Given the description of an element on the screen output the (x, y) to click on. 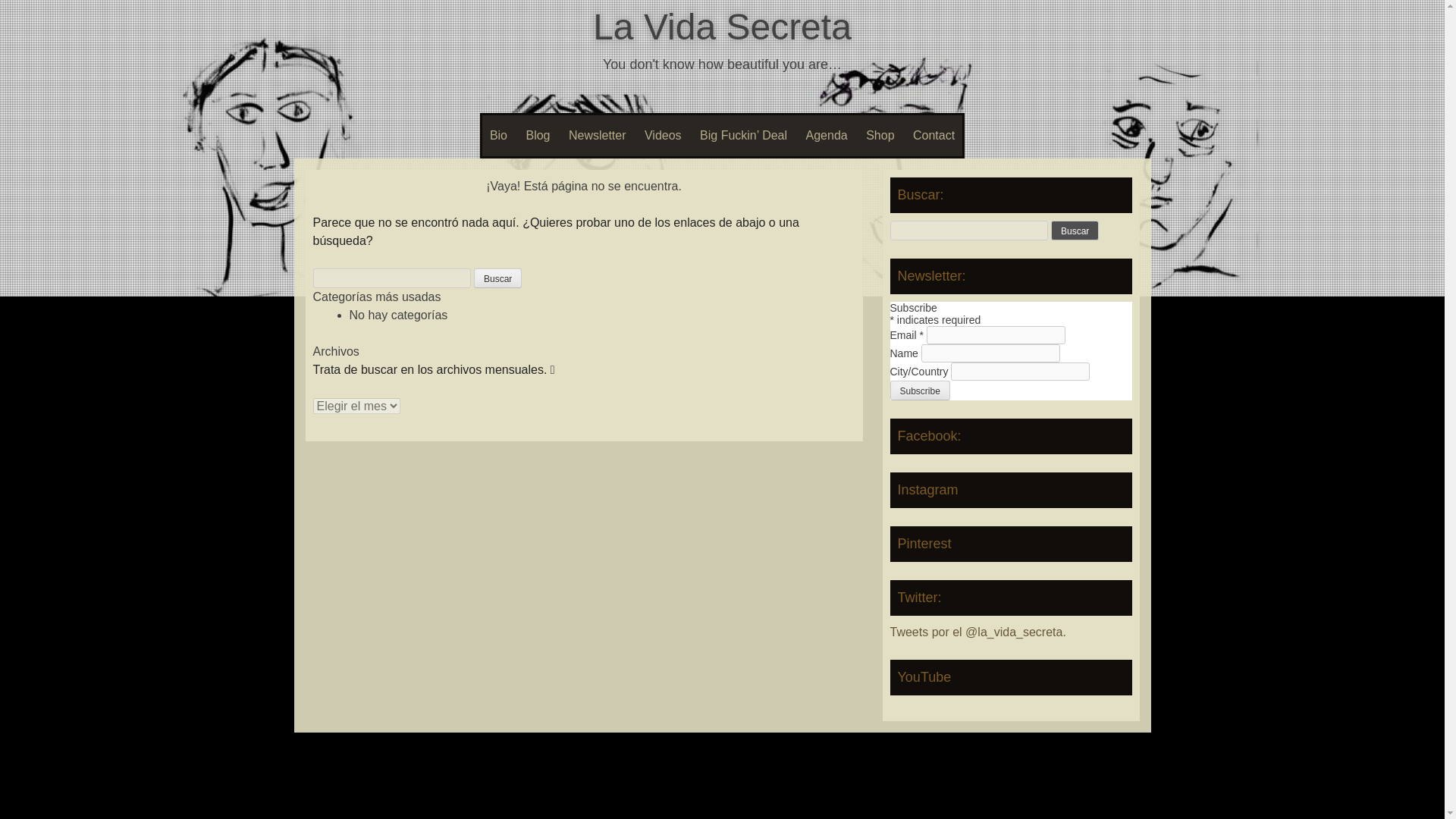
La Vida Secreta (721, 26)
Newsletter (596, 135)
Videos (662, 135)
Buscar (1075, 230)
Buscar (497, 278)
Blog (537, 135)
Buscar (1075, 230)
Contact (933, 135)
Buscar (497, 278)
Subscribe (919, 390)
